Given the description of an element on the screen output the (x, y) to click on. 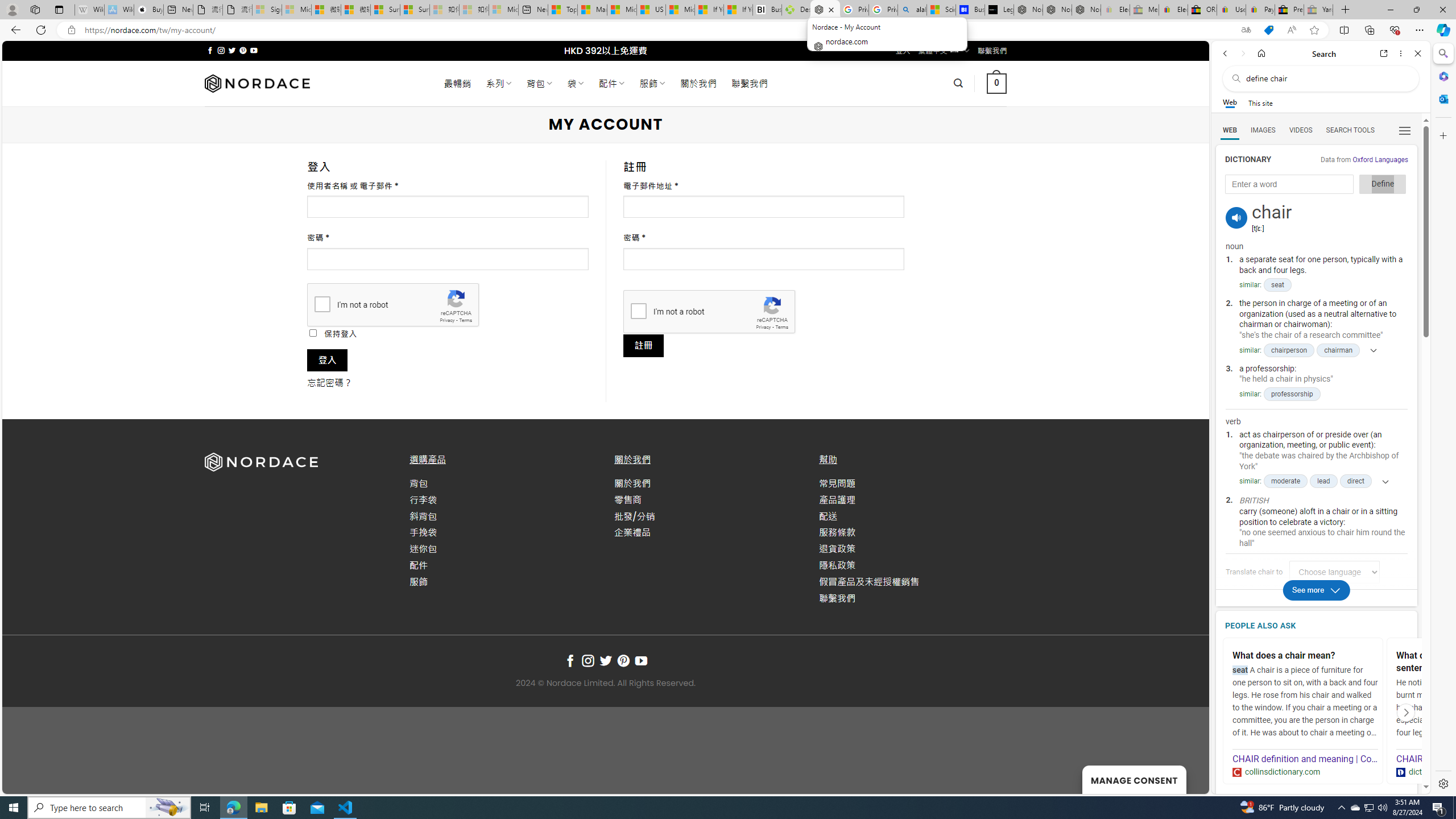
Link for logging (1338, 572)
